Given the description of an element on the screen output the (x, y) to click on. 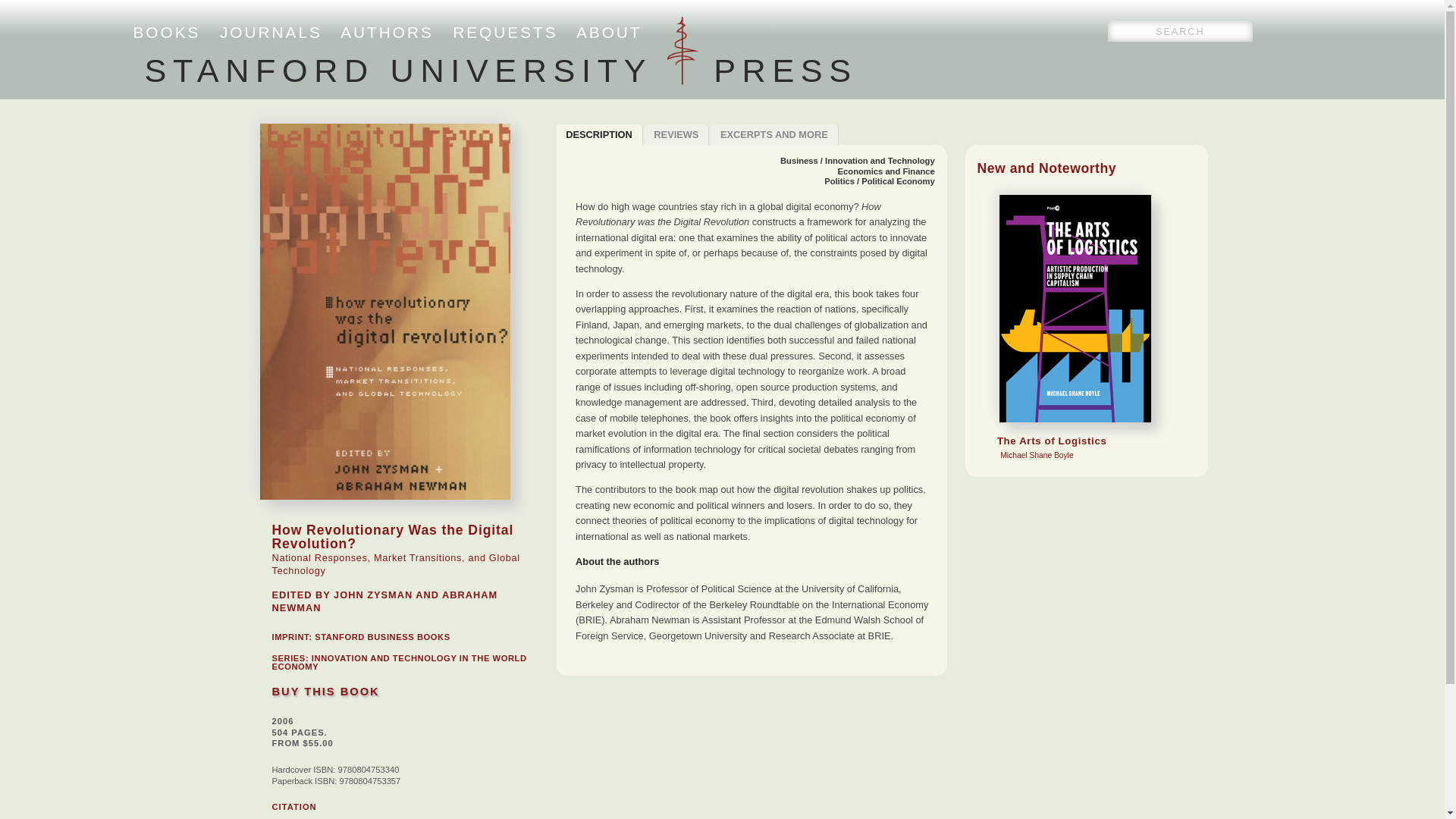
DESCRIPTION (599, 134)
BOOKS (166, 31)
REVIEWS (677, 134)
AUTHORS (386, 31)
Economics and Finance (774, 134)
STANFORD BUSINESS BOOKS (886, 171)
BUY THIS BOOK (381, 636)
STANFORD UNIVERSITY PRESS (324, 691)
CITATION (500, 70)
